Given the description of an element on the screen output the (x, y) to click on. 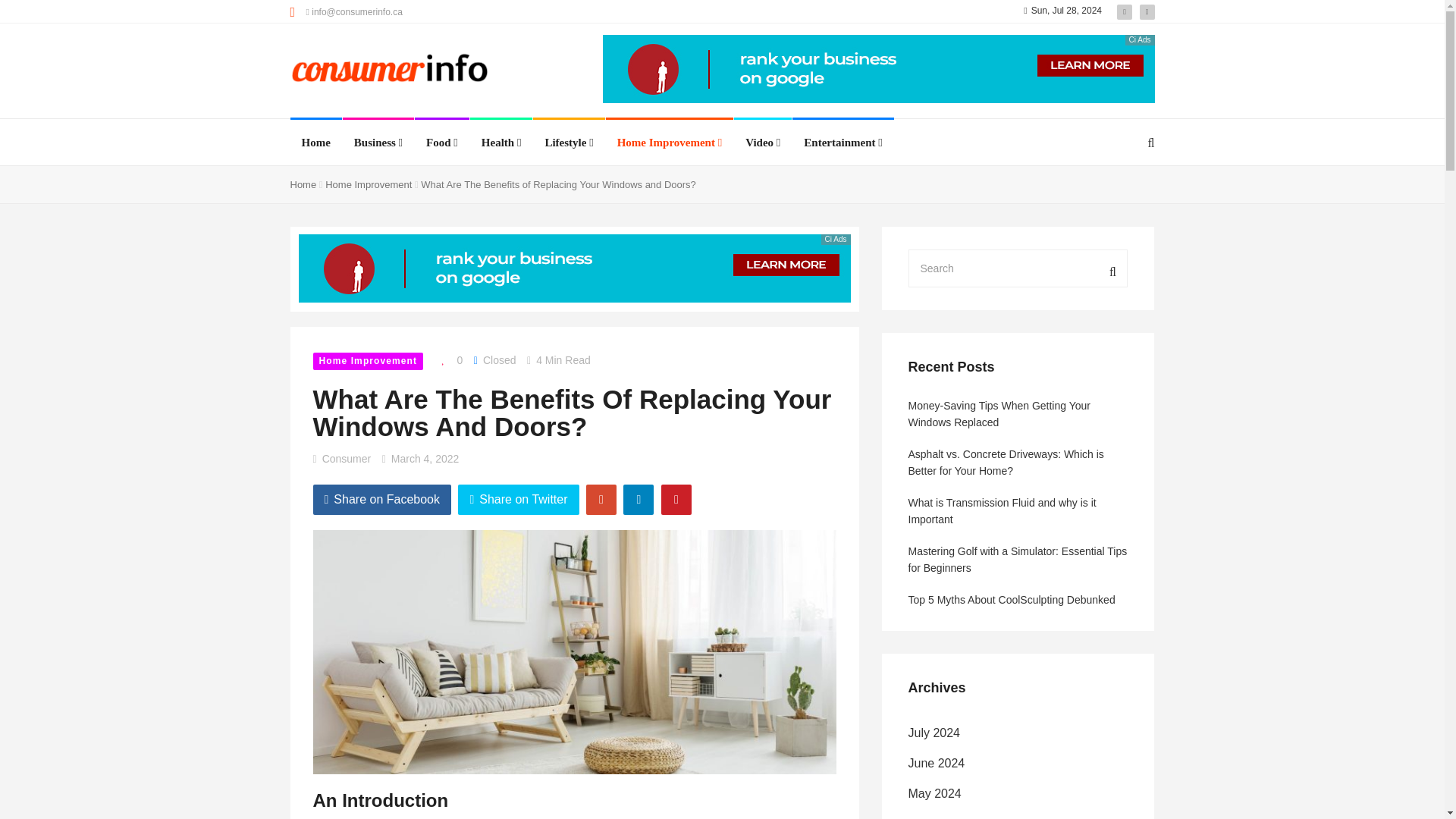
Share on Twitter! (518, 499)
Home (315, 142)
Share on Facebook! (382, 499)
Money-Saving Tips When Getting Your Windows Replaced (29, 164)
Health (501, 142)
Like this (448, 360)
Food (442, 142)
Video (762, 142)
Home (315, 142)
Share on Linkedin! (638, 499)
Home Improvement (669, 142)
Entertainment (842, 142)
Business (378, 142)
Lifestyle (568, 142)
